Given the description of an element on the screen output the (x, y) to click on. 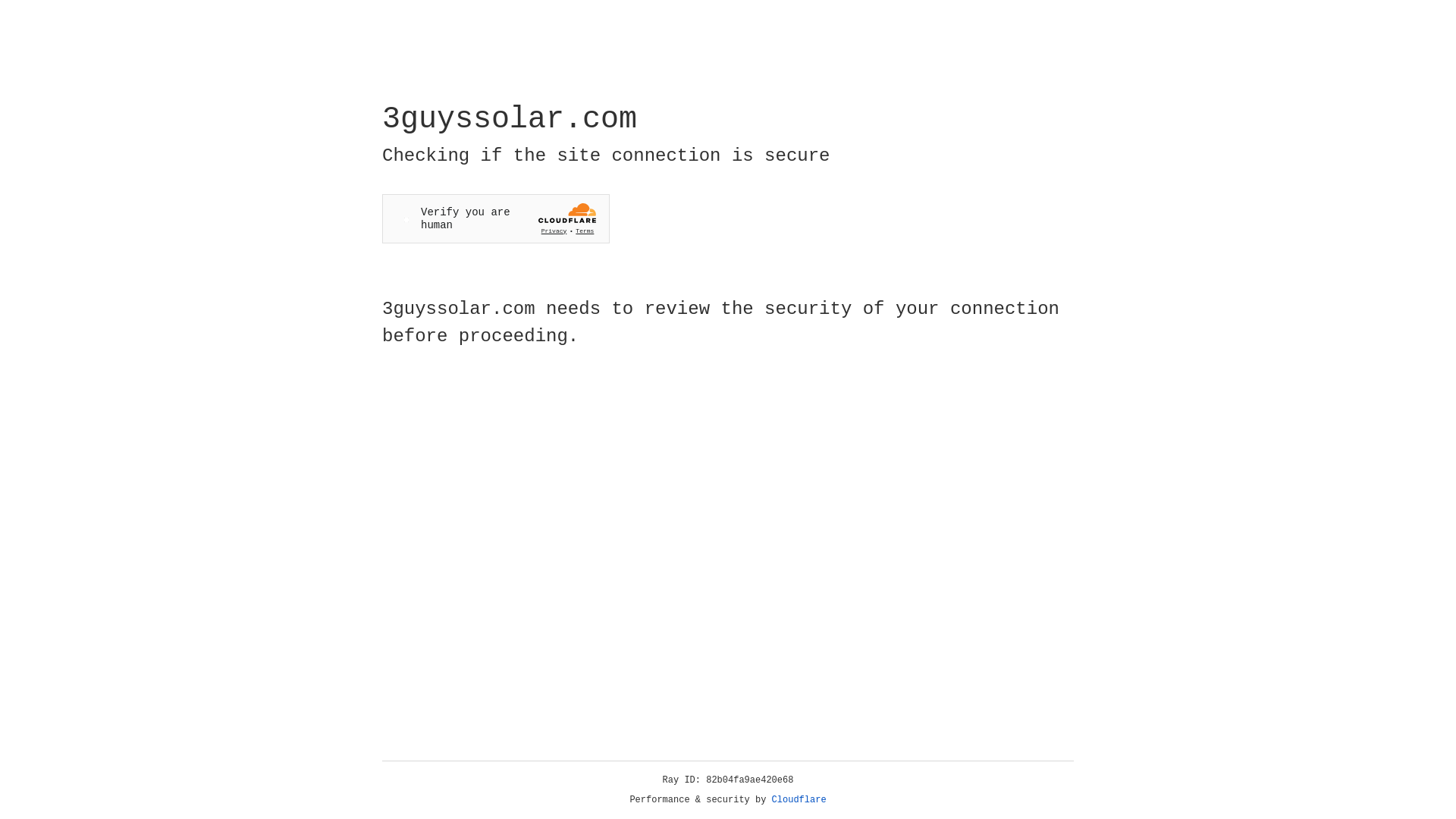
Cloudflare Element type: text (798, 799)
Widget containing a Cloudflare security challenge Element type: hover (495, 218)
